Given the description of an element on the screen output the (x, y) to click on. 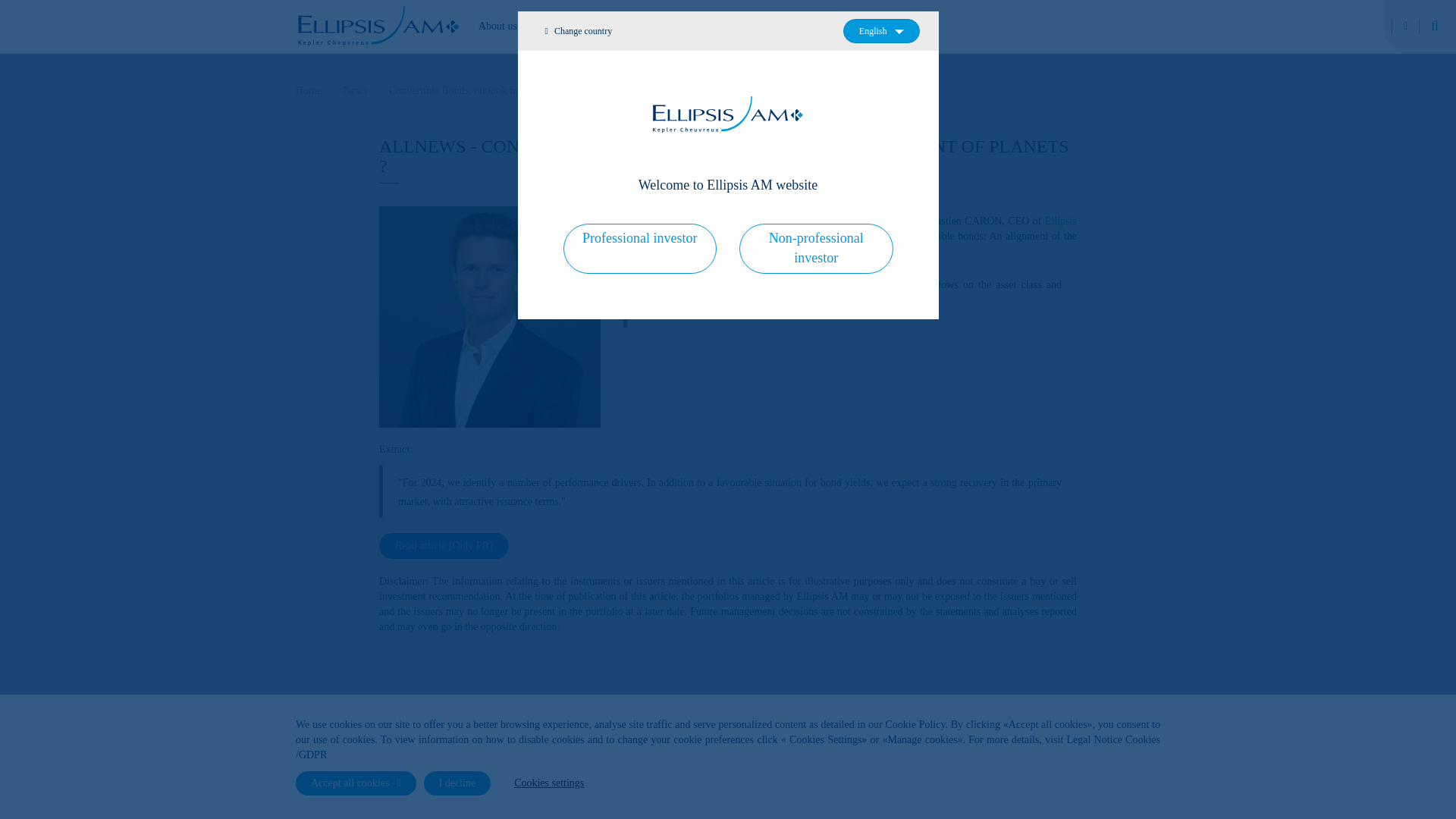
Professional investor (639, 247)
Home (308, 90)
Non-professional investor (816, 247)
Contacts (1008, 785)
Contacts (1008, 785)
Change country (578, 30)
Our expertise (563, 26)
Cookies settings (548, 783)
I decline (457, 783)
Legal information (1097, 785)
News (732, 26)
Accept all cookies (355, 783)
Our funds (856, 26)
About us (497, 26)
